Given the description of an element on the screen output the (x, y) to click on. 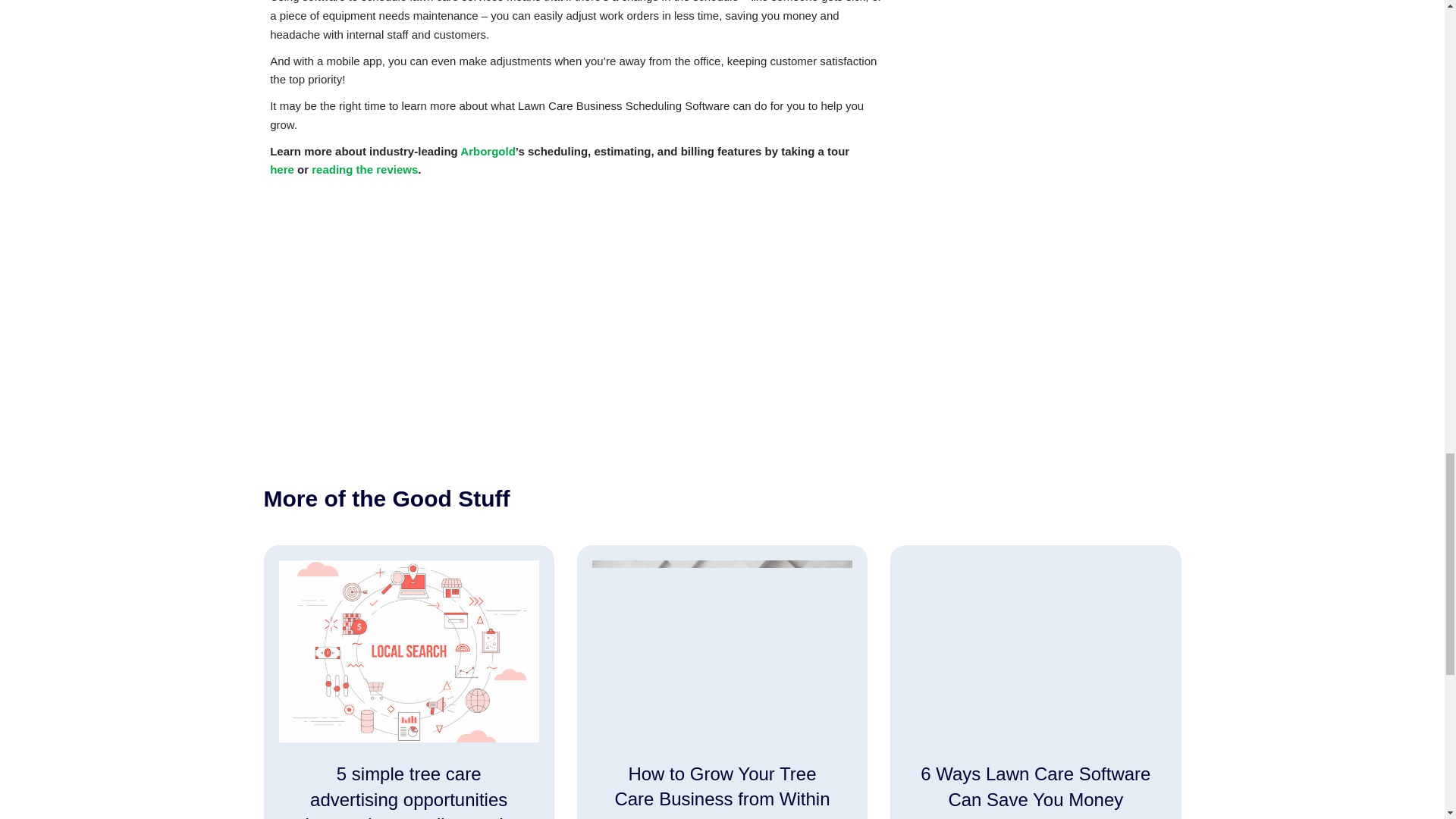
How to Grow Your Tree Care Business from Within (721, 682)
customer value maximization (721, 651)
6 Ways Lawn Care Software Can Save You Money (1034, 682)
